Given the description of an element on the screen output the (x, y) to click on. 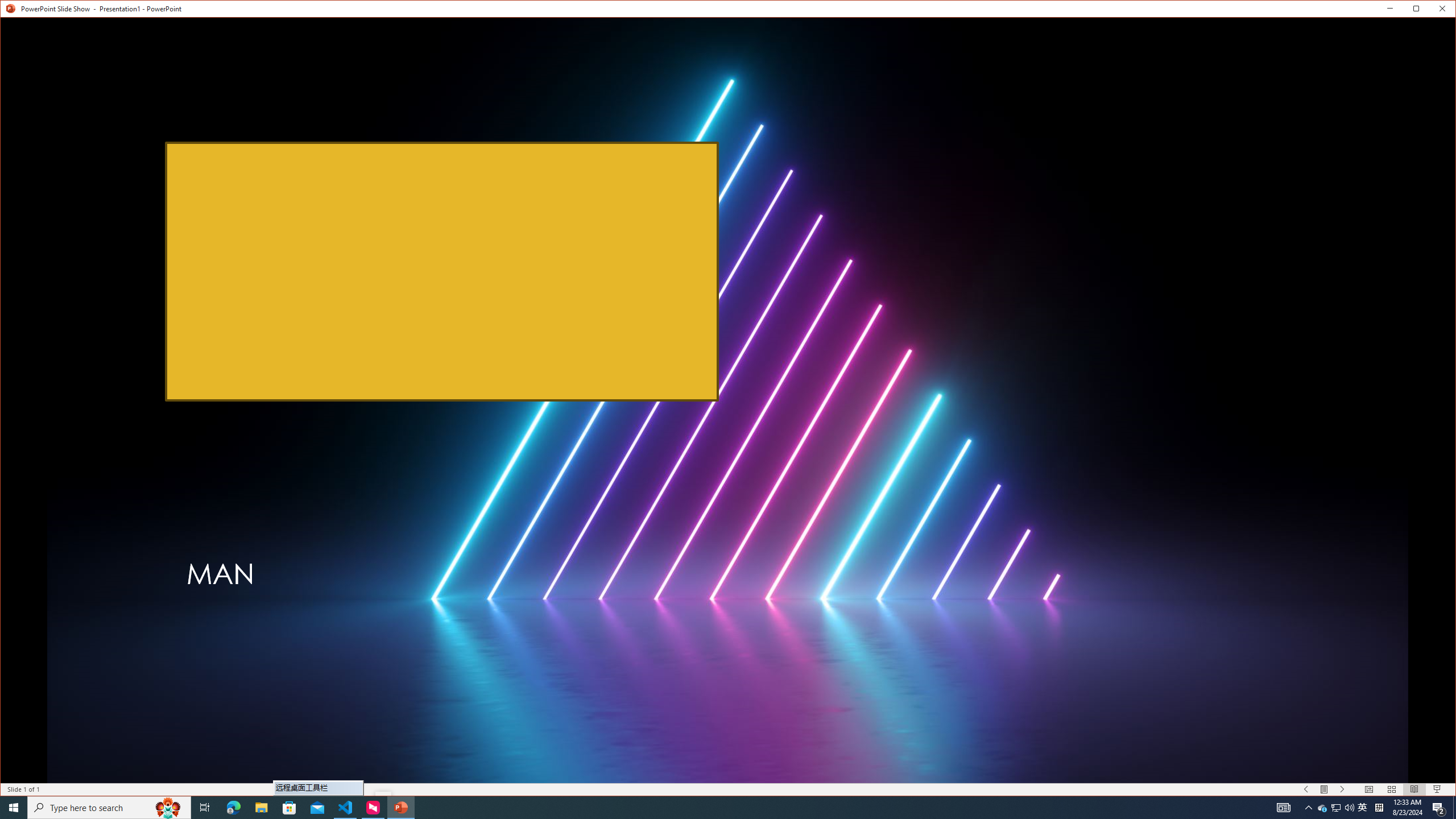
Menu On (1324, 789)
